Given the description of an element on the screen output the (x, y) to click on. 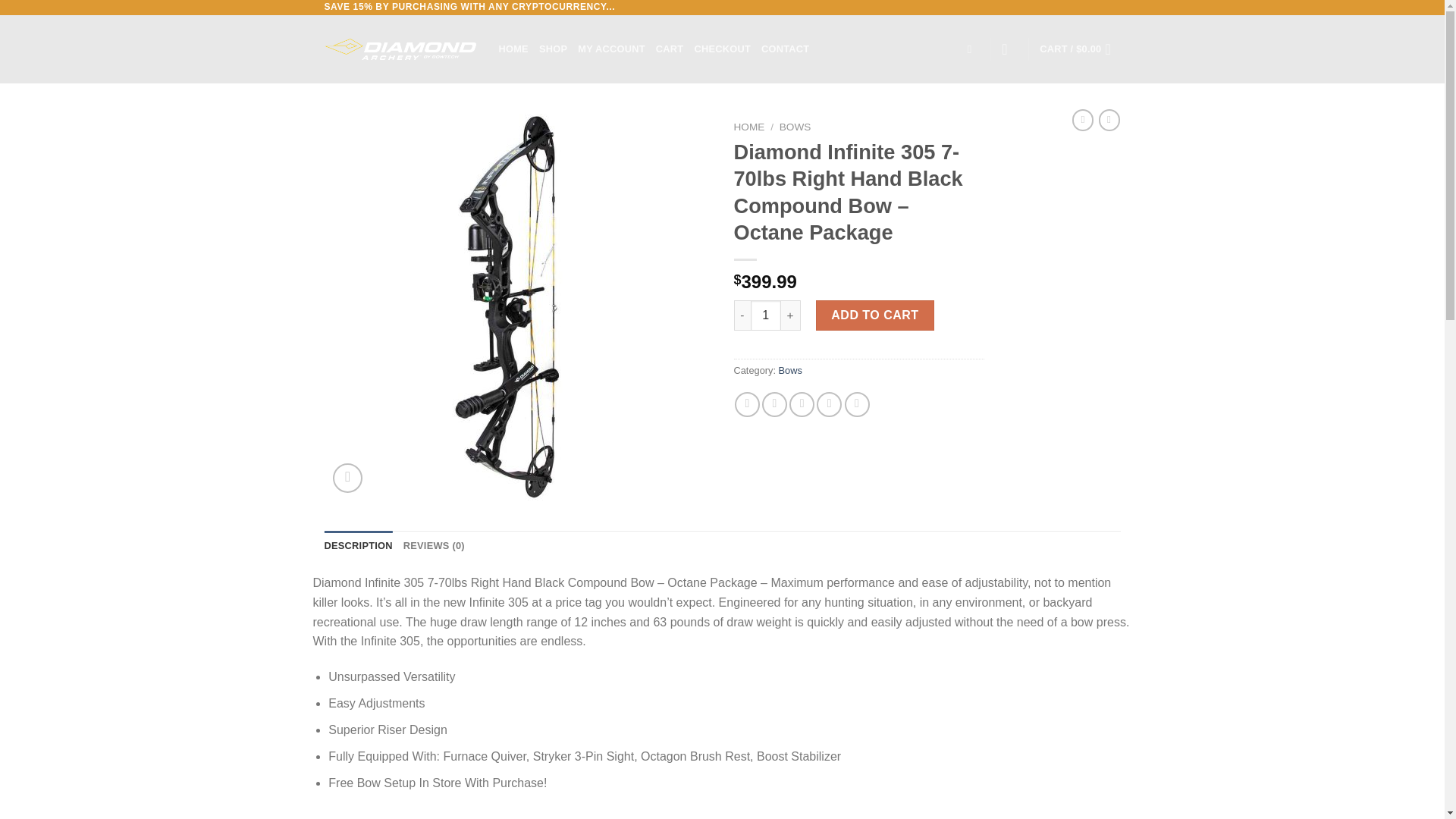
Qty (765, 315)
Diamondback Archery USA - Diamondback Archery Bows For Sale (400, 48)
CONTACT (785, 49)
SHOP (552, 49)
Bows  (791, 369)
HOME (749, 126)
Cart (1079, 49)
MY ACCOUNT (611, 49)
ADD TO CART (874, 315)
